Given the description of an element on the screen output the (x, y) to click on. 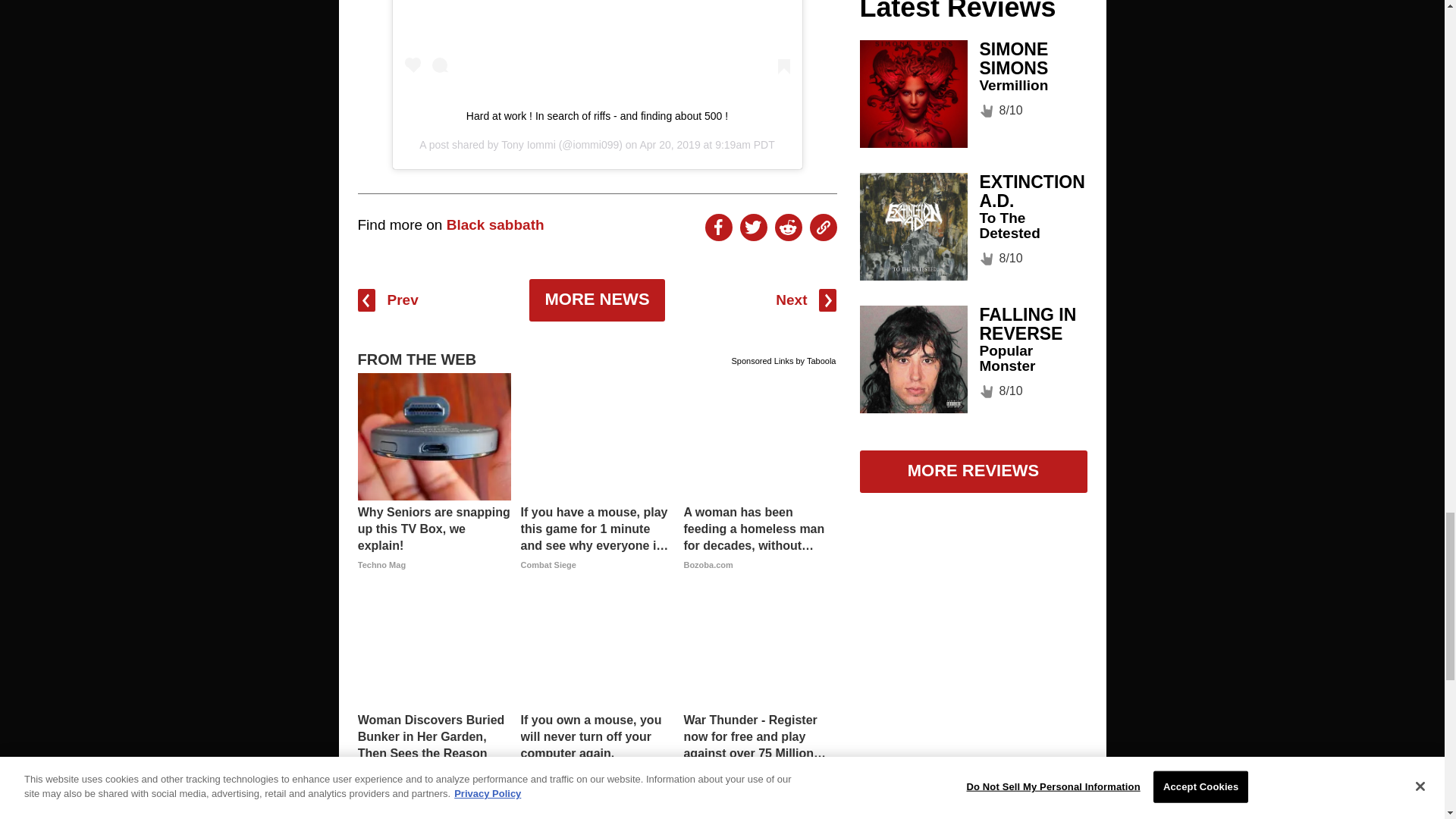
View this post on Instagram (597, 40)
Prev (388, 299)
Why Seniors are snapping up this TV Box, we explain! (434, 537)
Black sabbath (495, 224)
Share On Reddit (788, 226)
Hard at work ! In search of riffs - and finding about 500 ! (596, 114)
MORE NEWS (596, 300)
Share On Facebook (718, 226)
